Given the description of an element on the screen output the (x, y) to click on. 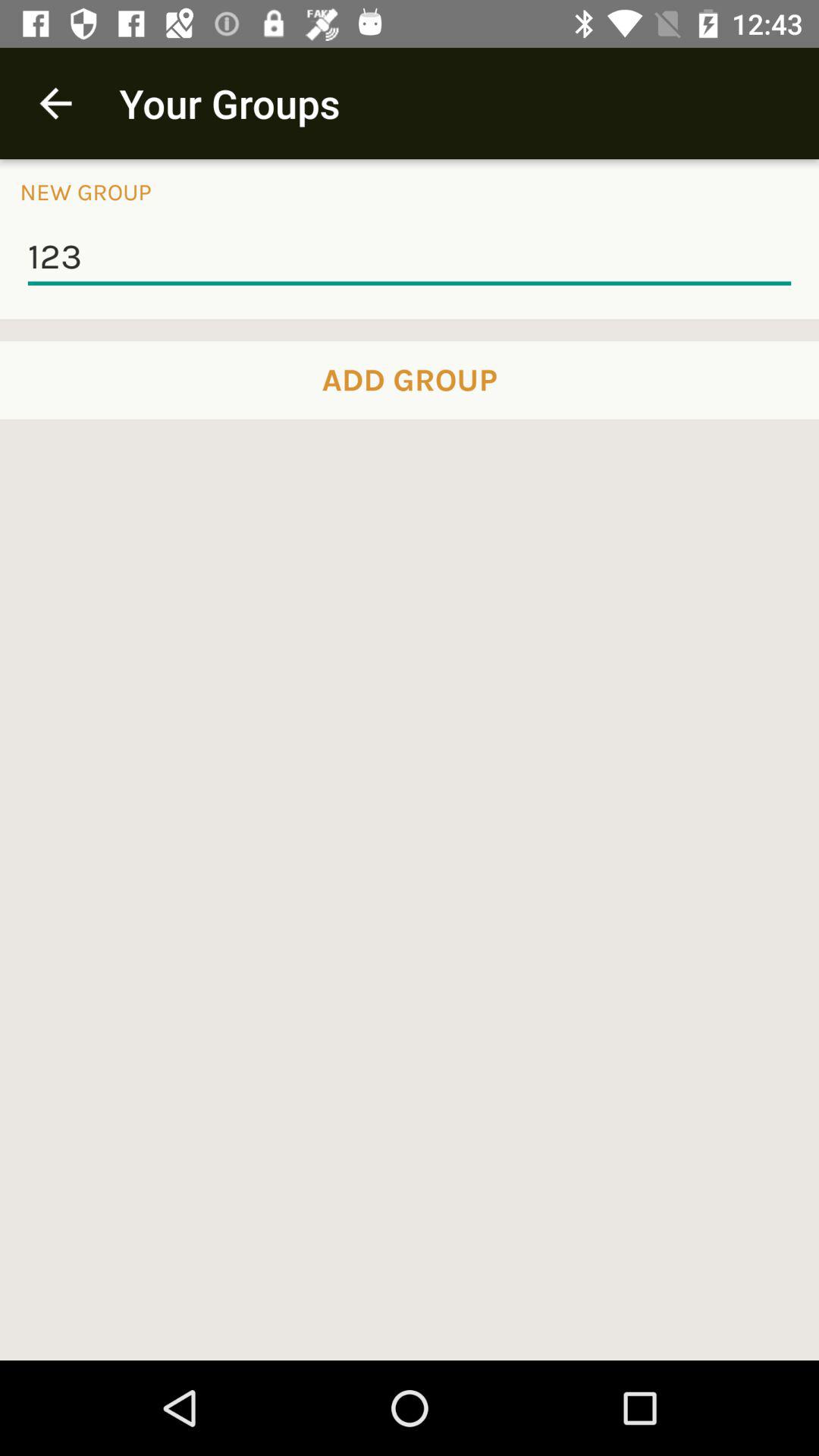
tap the add group icon (409, 380)
